Given the description of an element on the screen output the (x, y) to click on. 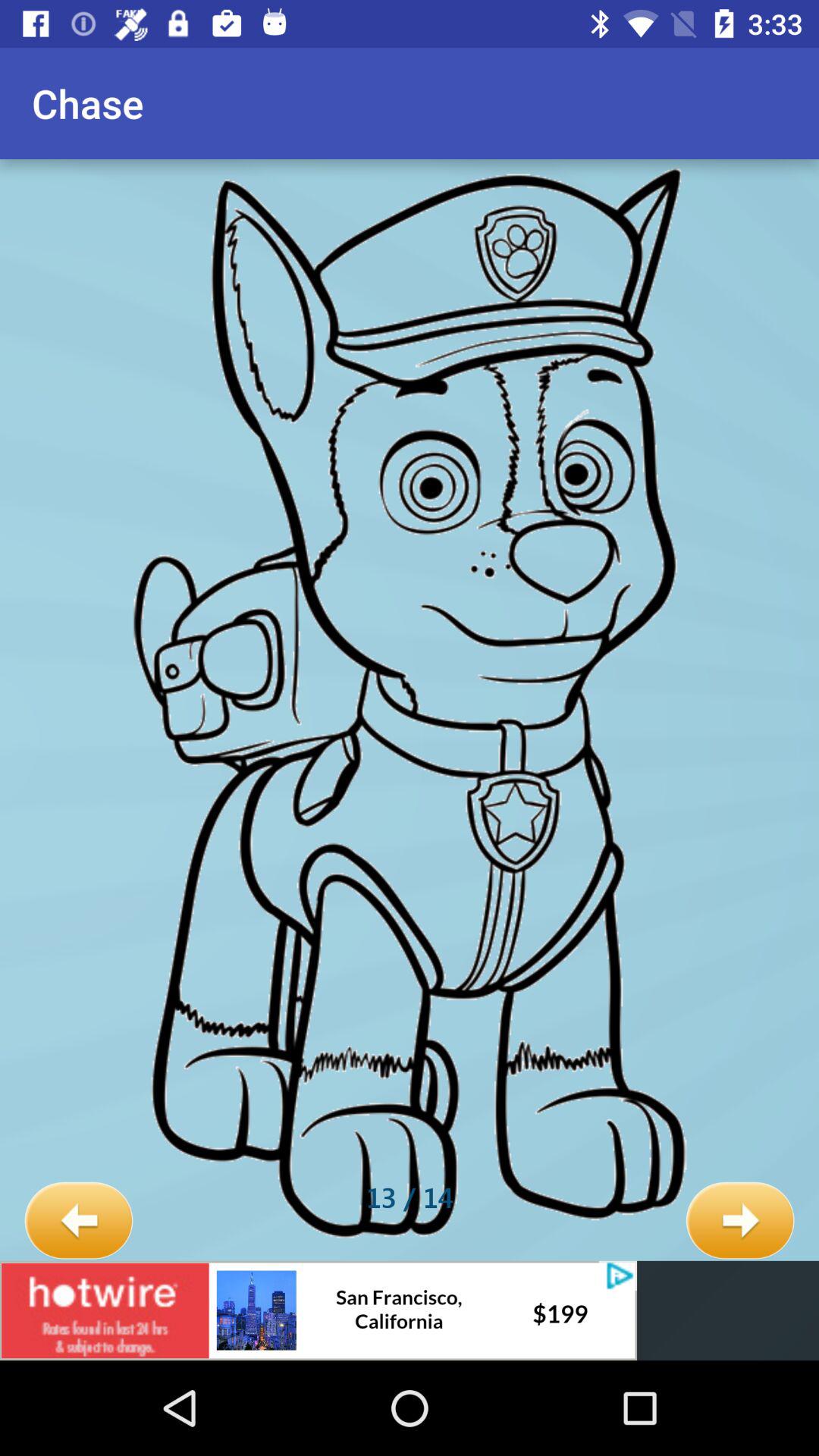
launch item to the right of the 13 / 14 item (740, 1220)
